Given the description of an element on the screen output the (x, y) to click on. 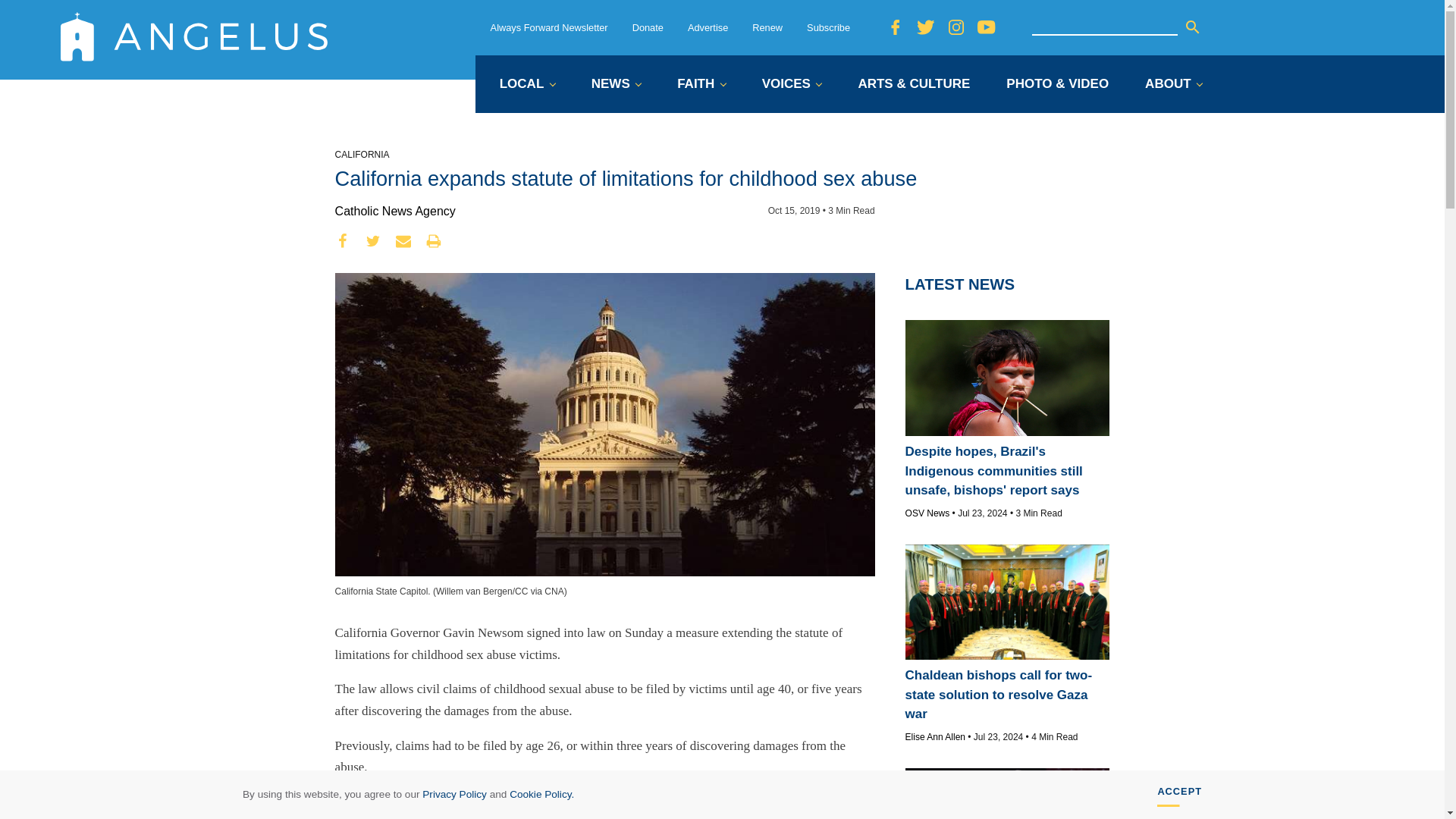
Always Forward Newsletter (549, 27)
Search (1192, 27)
Donate (647, 27)
Posts by Elise Ann Allen (935, 737)
facebook (342, 240)
Advertise (707, 27)
NEWS (615, 84)
LOCAL (526, 84)
FAITH (701, 84)
print (433, 240)
Privacy Policy (454, 794)
ACCEPT (1179, 794)
Cookie Policy. (541, 794)
Subscribe (828, 27)
envelope (403, 240)
